Given the description of an element on the screen output the (x, y) to click on. 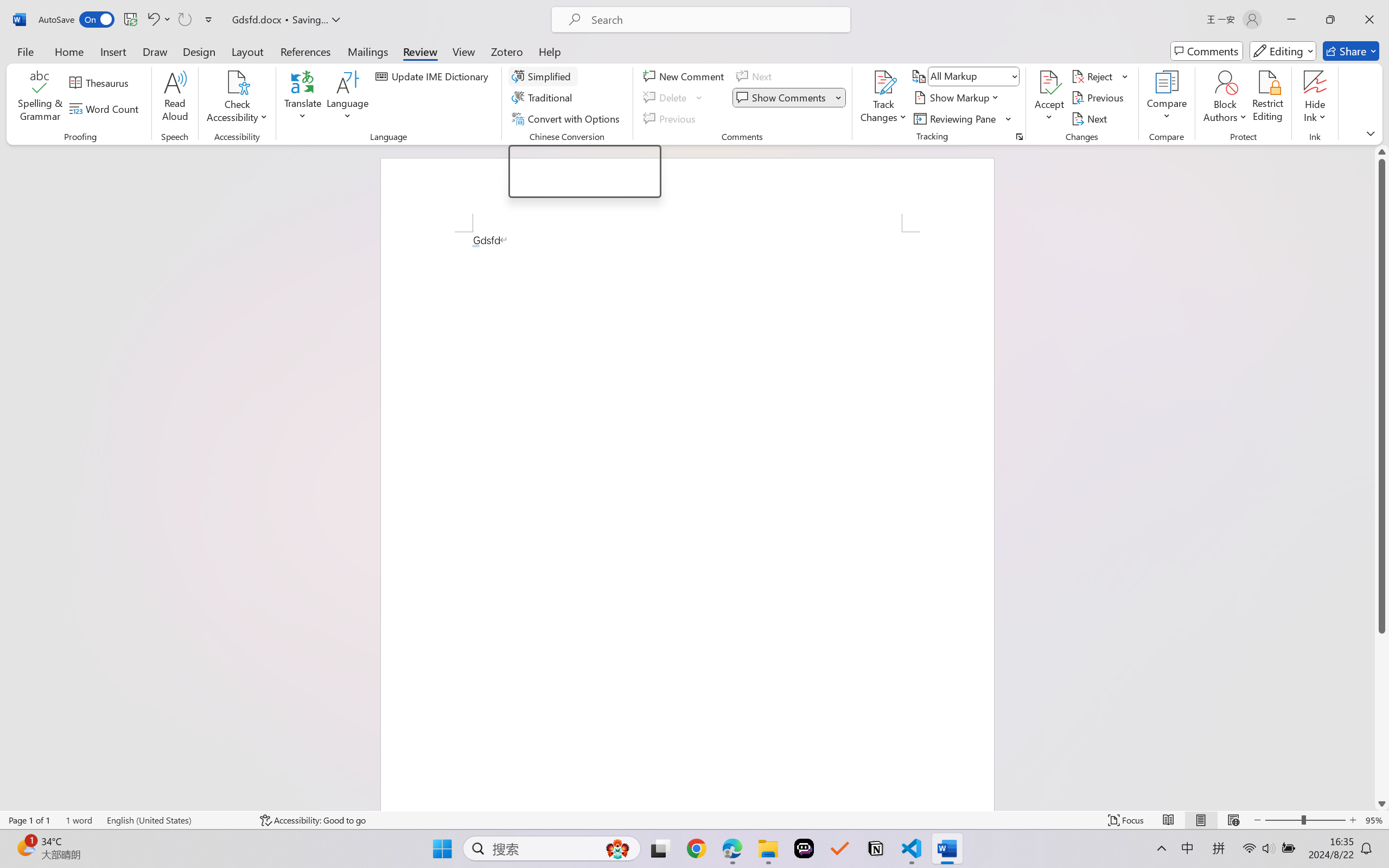
Page 1 content (687, 521)
Traditional (543, 97)
Delete (666, 97)
Update IME Dictionary... (433, 75)
Delete (673, 97)
Previous (1099, 97)
Next (1090, 118)
